Given the description of an element on the screen output the (x, y) to click on. 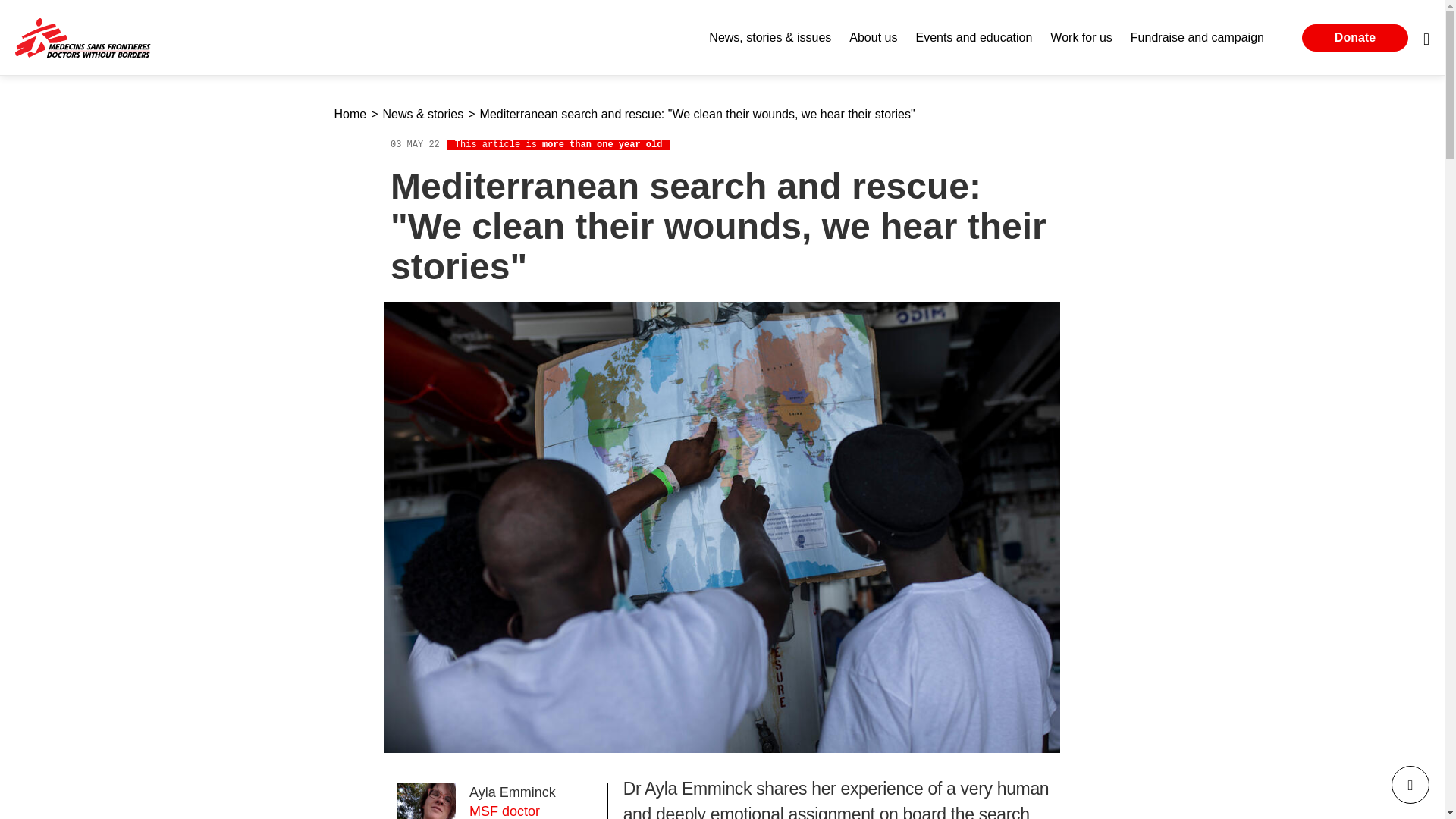
Donate (1354, 37)
Home (349, 114)
Home (75, 40)
